Given the description of an element on the screen output the (x, y) to click on. 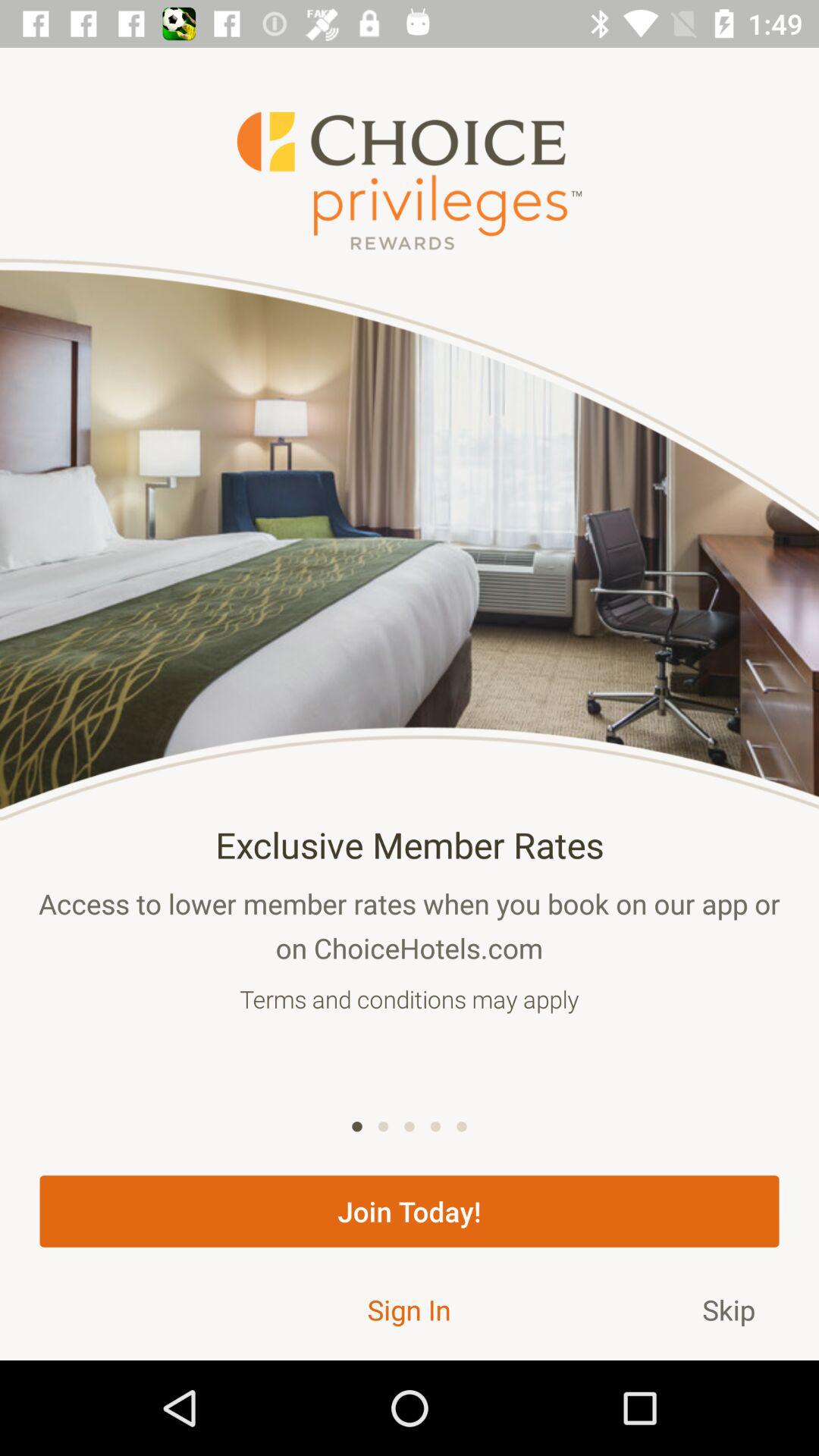
choose icon above the sign in icon (409, 1211)
